Given the description of an element on the screen output the (x, y) to click on. 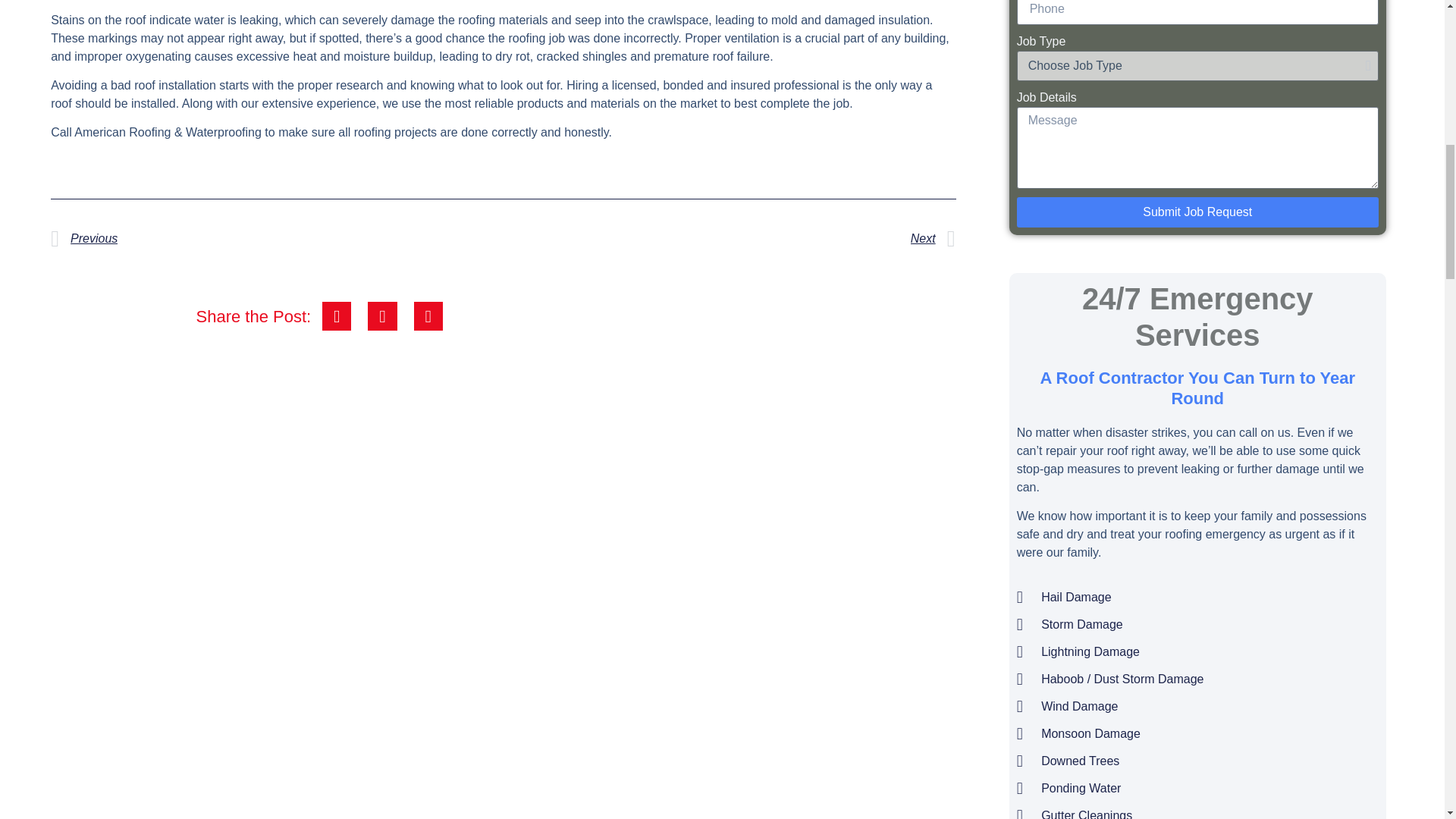
Next (728, 238)
Previous (276, 238)
Submit Job Request (1197, 212)
